Given the description of an element on the screen output the (x, y) to click on. 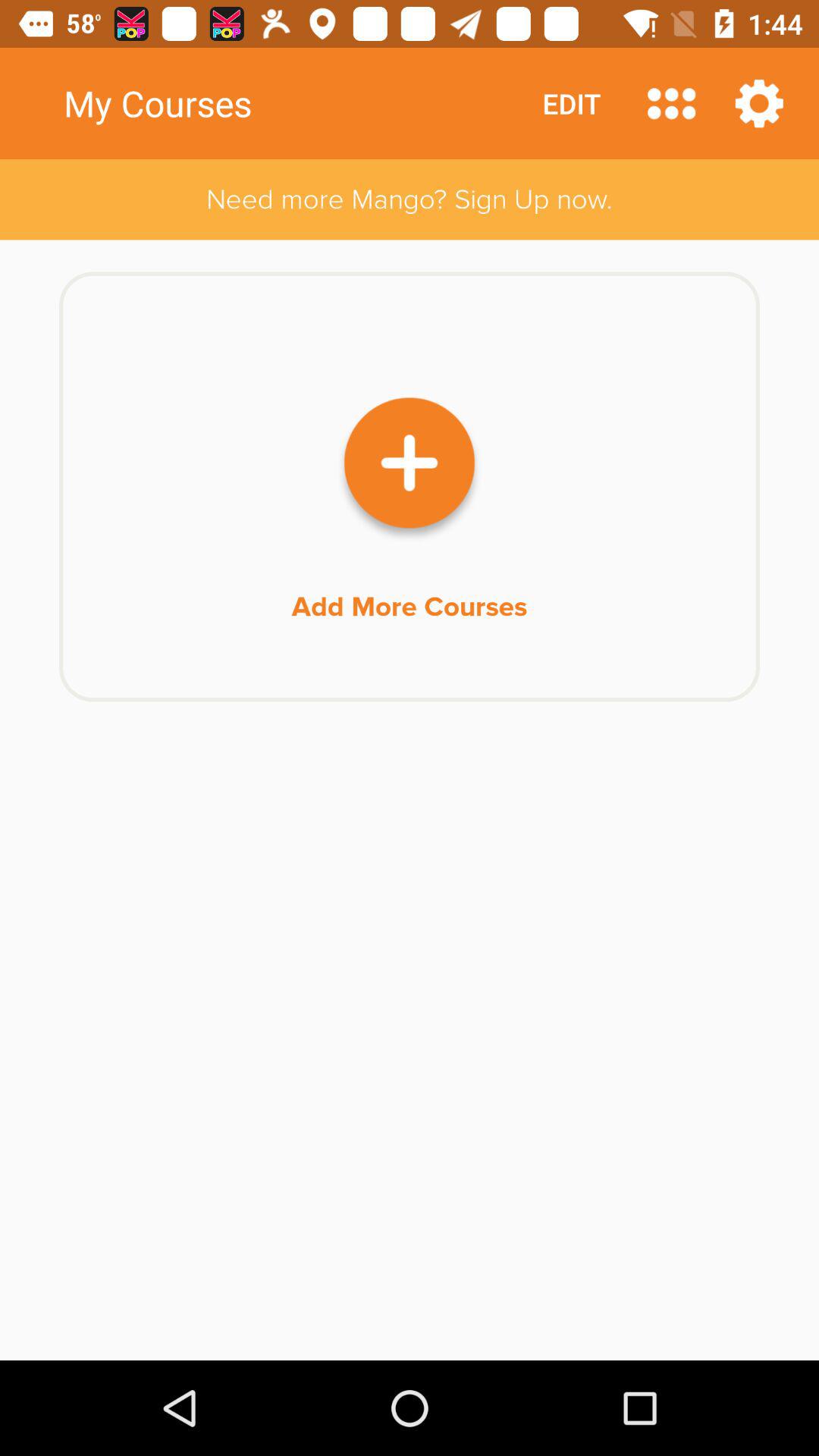
tap icon below the edit (409, 199)
